Given the description of an element on the screen output the (x, y) to click on. 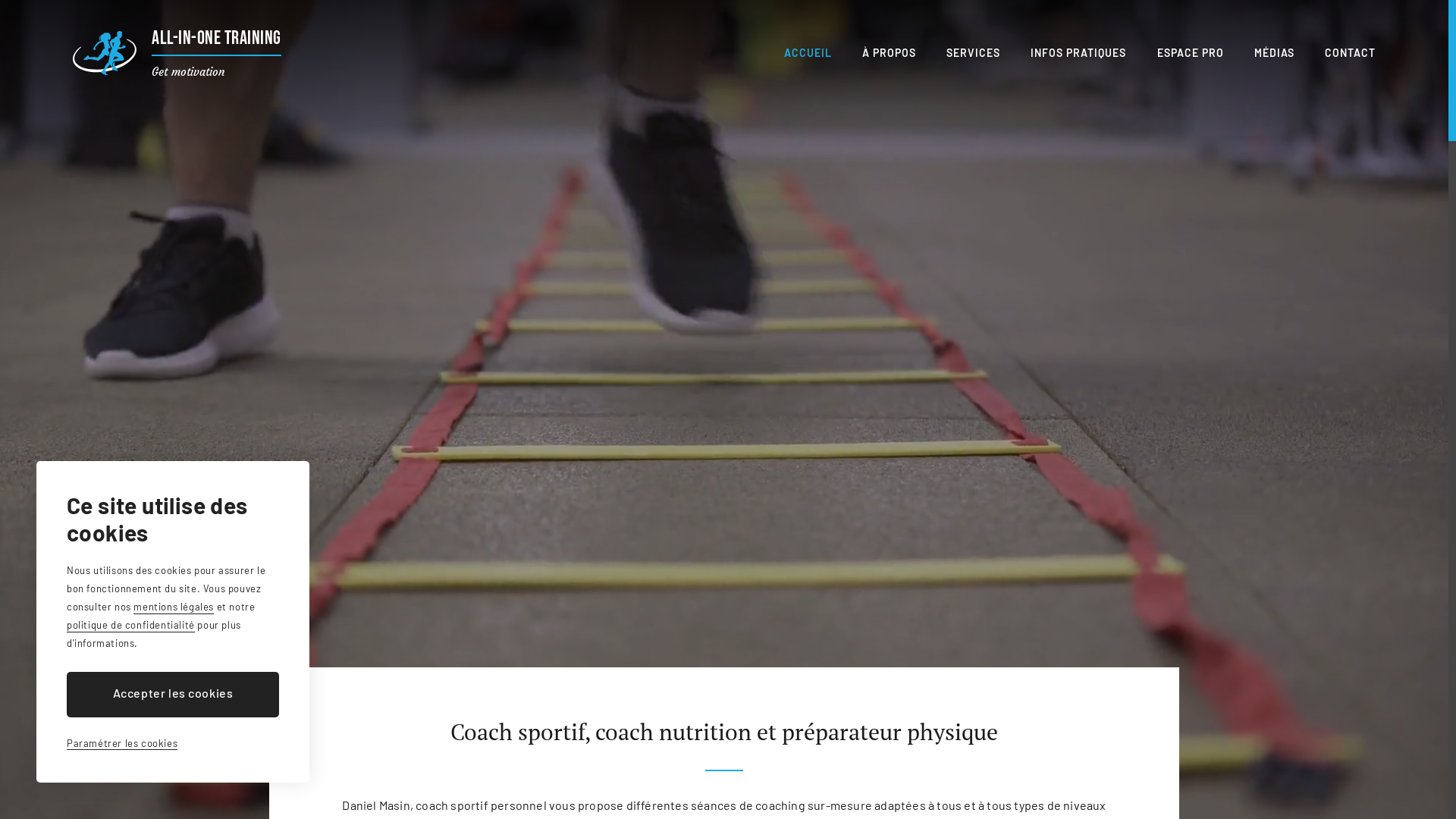
INFOS PRATIQUES Element type: text (1078, 53)
ALL-IN-ONE TRAINING
Get motivation Element type: text (176, 52)
CONTACT Element type: text (1349, 53)
SERVICES Element type: text (973, 53)
ESPACE PRO Element type: text (1190, 53)
ACCUEIL Element type: text (807, 53)
